Given the description of an element on the screen output the (x, y) to click on. 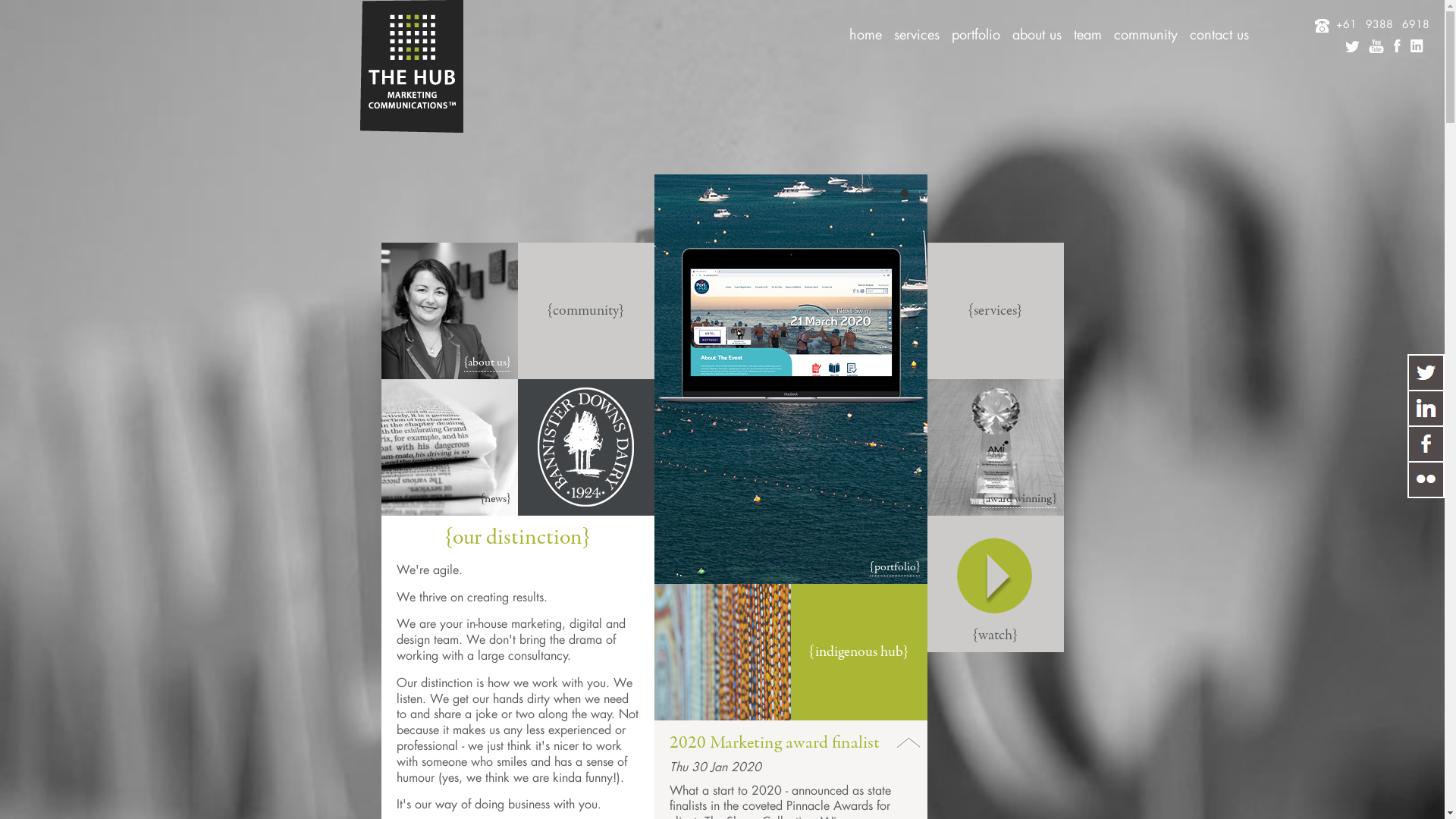
contact us Element type: text (1219, 32)
Privacy Element type: text (104, 791)
community Element type: text (270, 471)
about us Element type: text (1036, 32)
2 Element type: text (874, 193)
  Element type: text (1425, 371)
contact us Element type: text (265, 502)
portfolio Element type: text (975, 32)
home Element type: text (865, 32)
3 Element type: text (889, 193)
  Element type: text (1425, 443)
1 Element type: text (858, 193)
portfolio Element type: text (263, 377)
about us Element type: text (261, 408)
4 Element type: text (904, 193)
home Element type: text (253, 315)
Disclaimer Element type: text (56, 791)
Jump to navigation Element type: text (722, 77)
services Element type: text (916, 32)
team Element type: text (251, 439)
services Element type: text (258, 346)
  Element type: text (1425, 408)
  Element type: text (1425, 479)
community Element type: text (1145, 32)
team Element type: text (1087, 32)
